Given the description of an element on the screen output the (x, y) to click on. 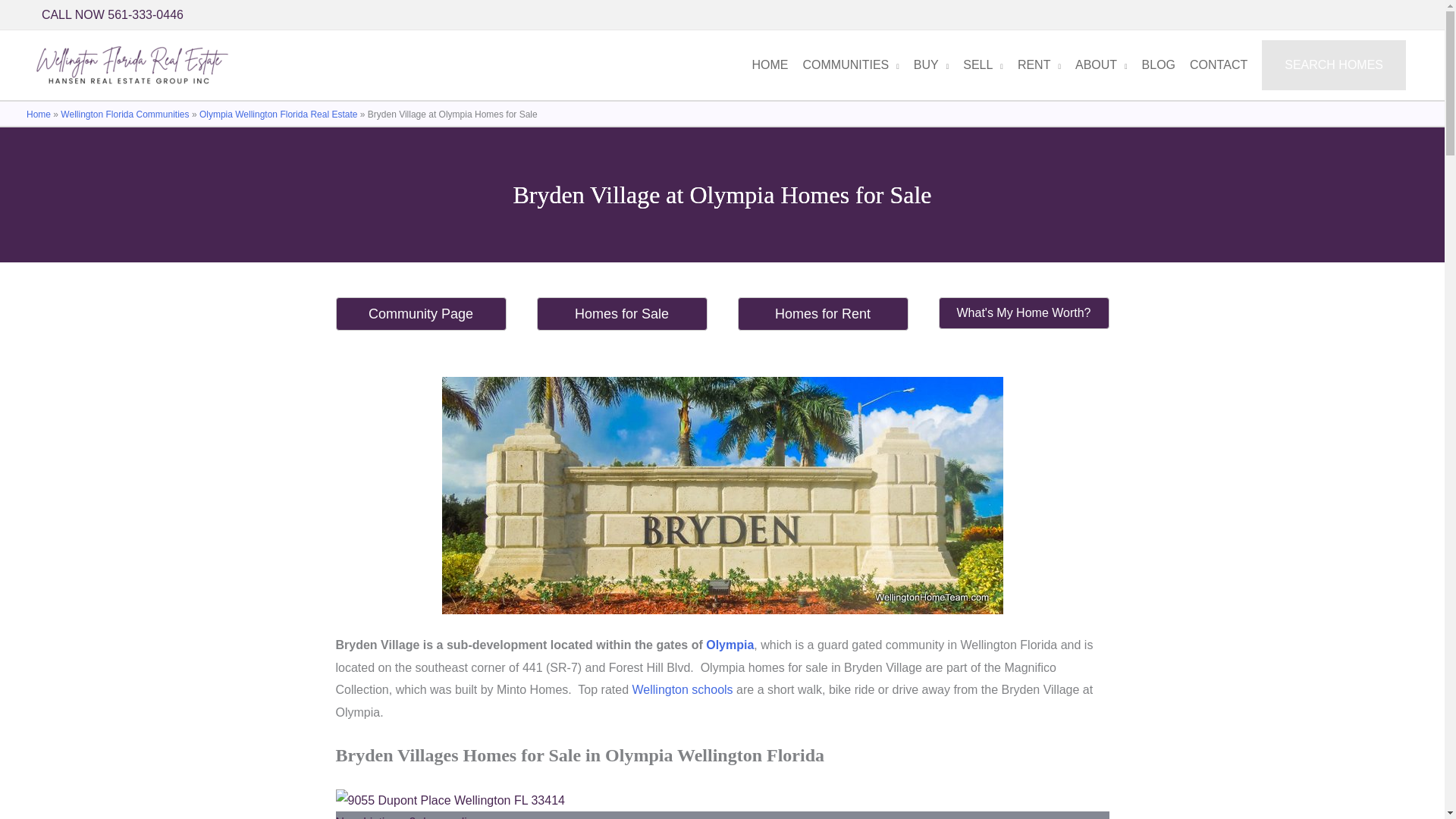
Wellington Florida Schools (682, 689)
Olympia Homes for Sale in Wellington Florida (730, 644)
SELL (978, 65)
Bryden Village at Olympia Homes for Sale (449, 800)
CALL NOW 561-333-0446 (112, 15)
COMMUNITIES (845, 65)
HOME (764, 65)
RENT (1034, 65)
Bryden Village at Olympia Homes for Sale (722, 495)
BUY (925, 65)
9055 Dupont Place (721, 803)
